Given the description of an element on the screen output the (x, y) to click on. 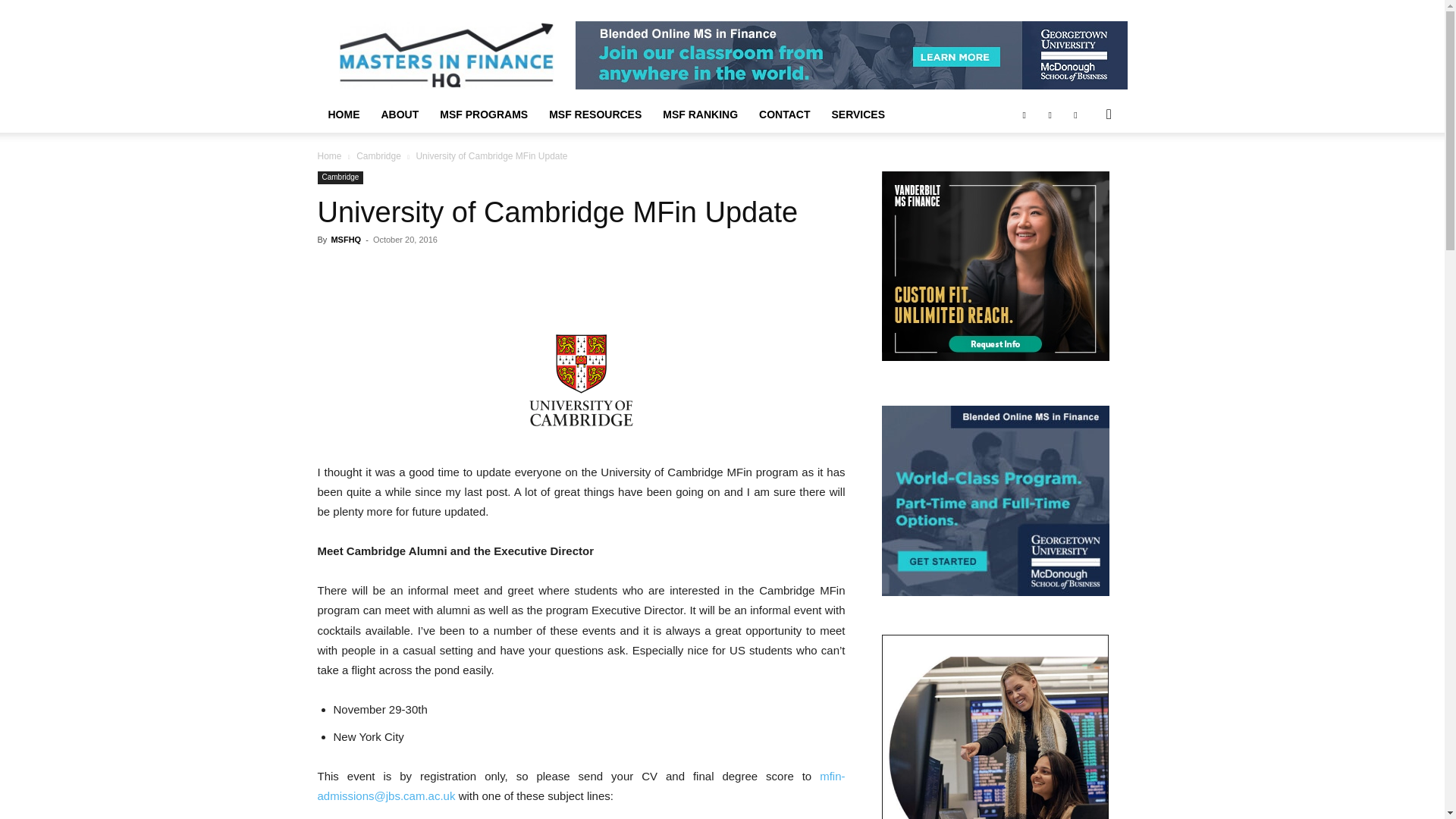
View all posts in Cambridge (378, 155)
HOME (343, 114)
Cambridge (378, 155)
ABOUT (399, 114)
MSF RANKING (700, 114)
Home (328, 155)
MSFHQ (345, 239)
CONTACT (784, 114)
SERVICES (858, 114)
Masters in Finance HQ (445, 55)
